Given the description of an element on the screen output the (x, y) to click on. 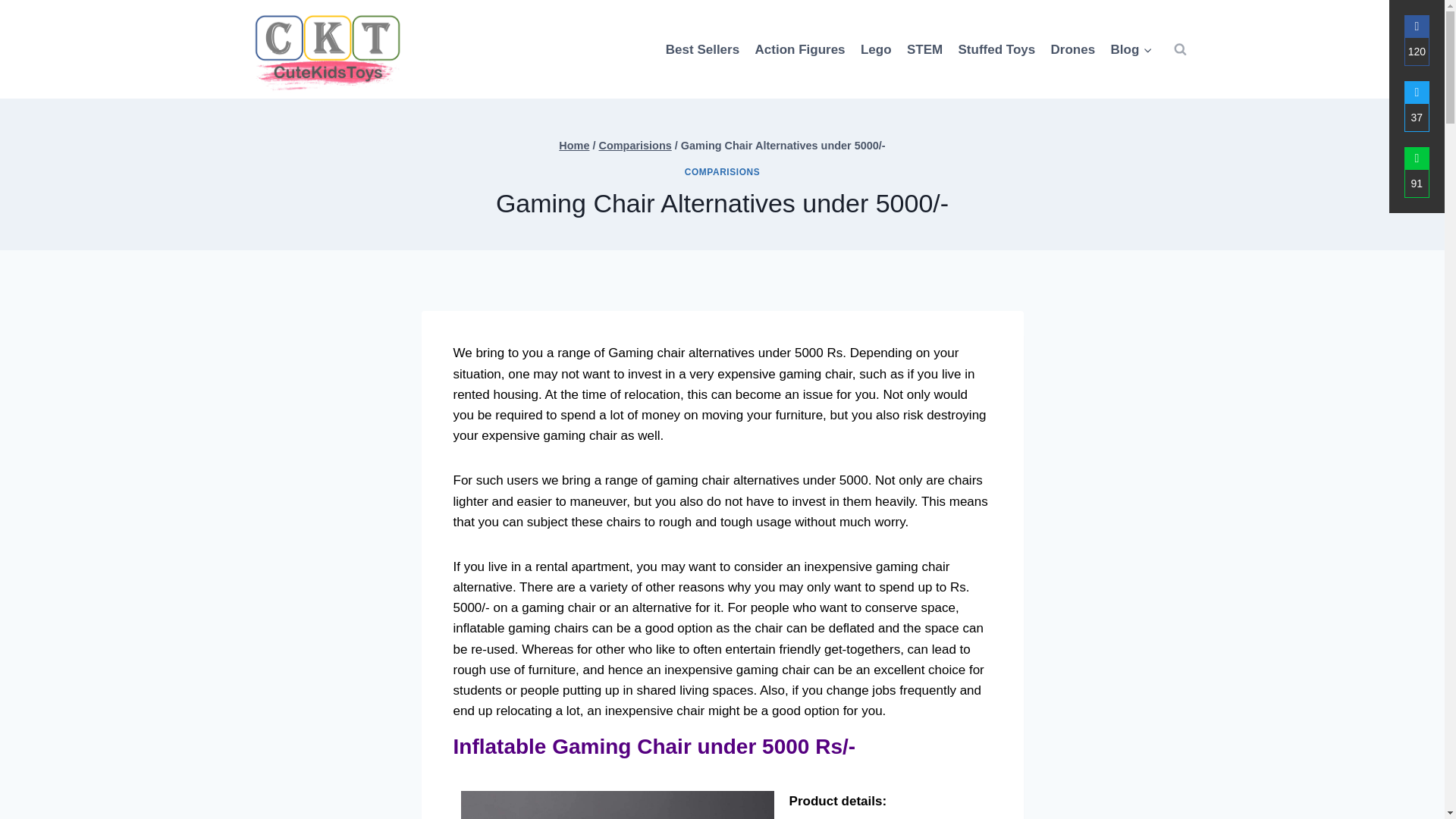
Lego (876, 49)
Best Sellers (703, 49)
Action Figures (798, 49)
Comparisions (634, 145)
STEM (924, 49)
Drones (1072, 49)
Stuffed Toys (996, 49)
Blog (1130, 49)
Home (574, 145)
COMPARISIONS (722, 172)
